Given the description of an element on the screen output the (x, y) to click on. 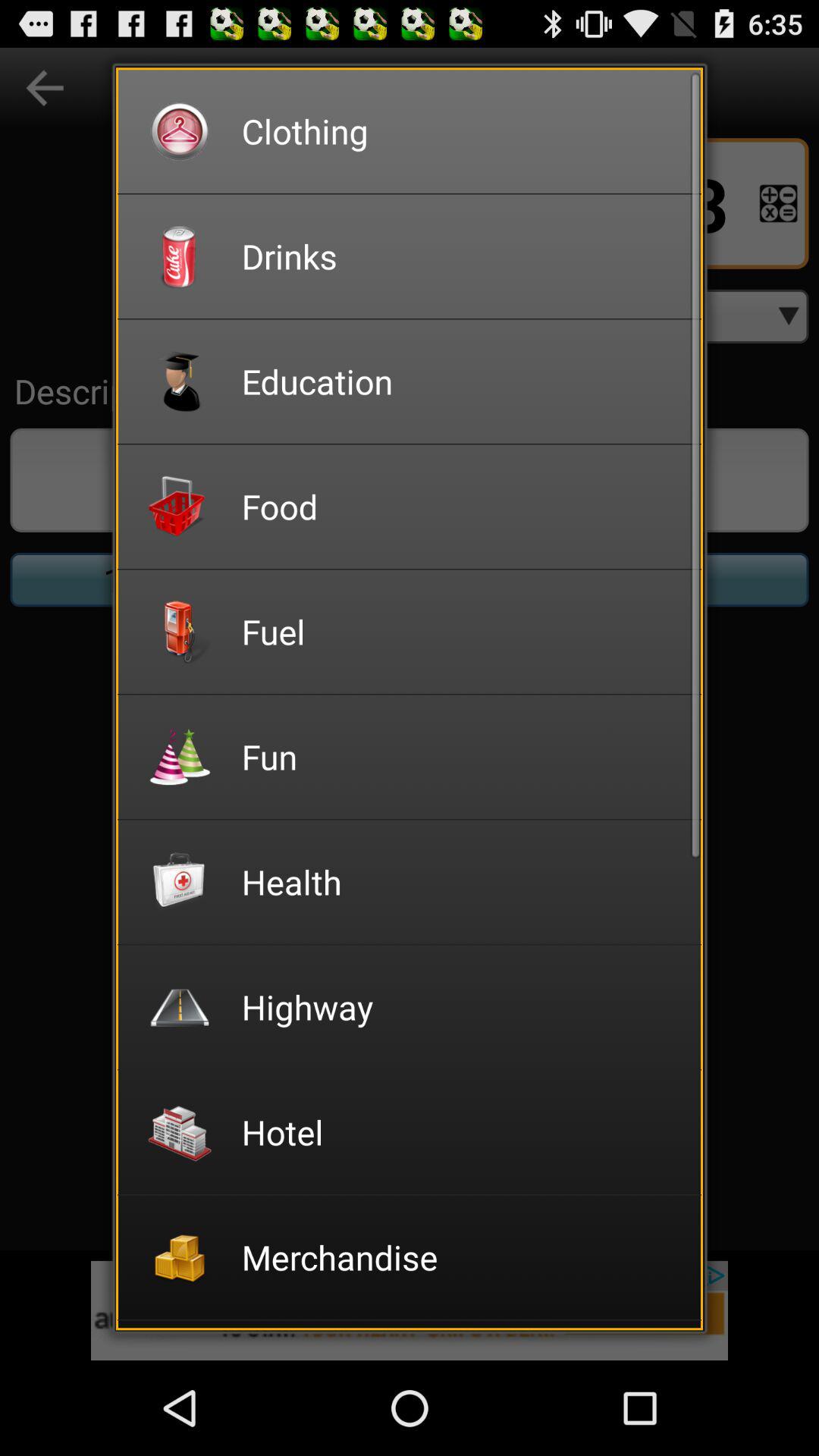
jump to health icon (461, 881)
